Given the description of an element on the screen output the (x, y) to click on. 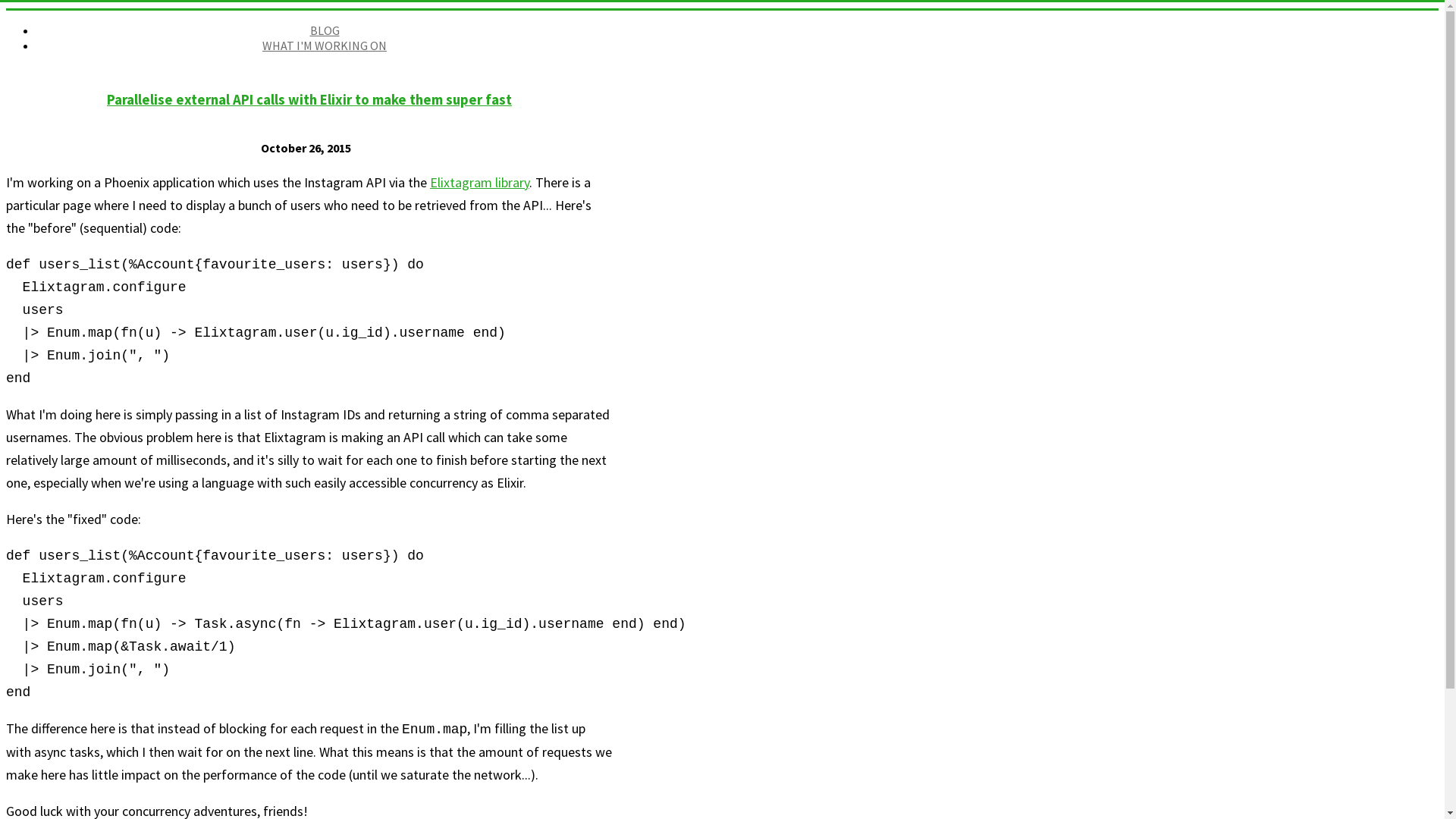
Elixtagram library Element type: text (479, 182)
BLOG Element type: text (323, 29)
WHAT I'M WORKING ON Element type: text (324, 45)
